Given the description of an element on the screen output the (x, y) to click on. 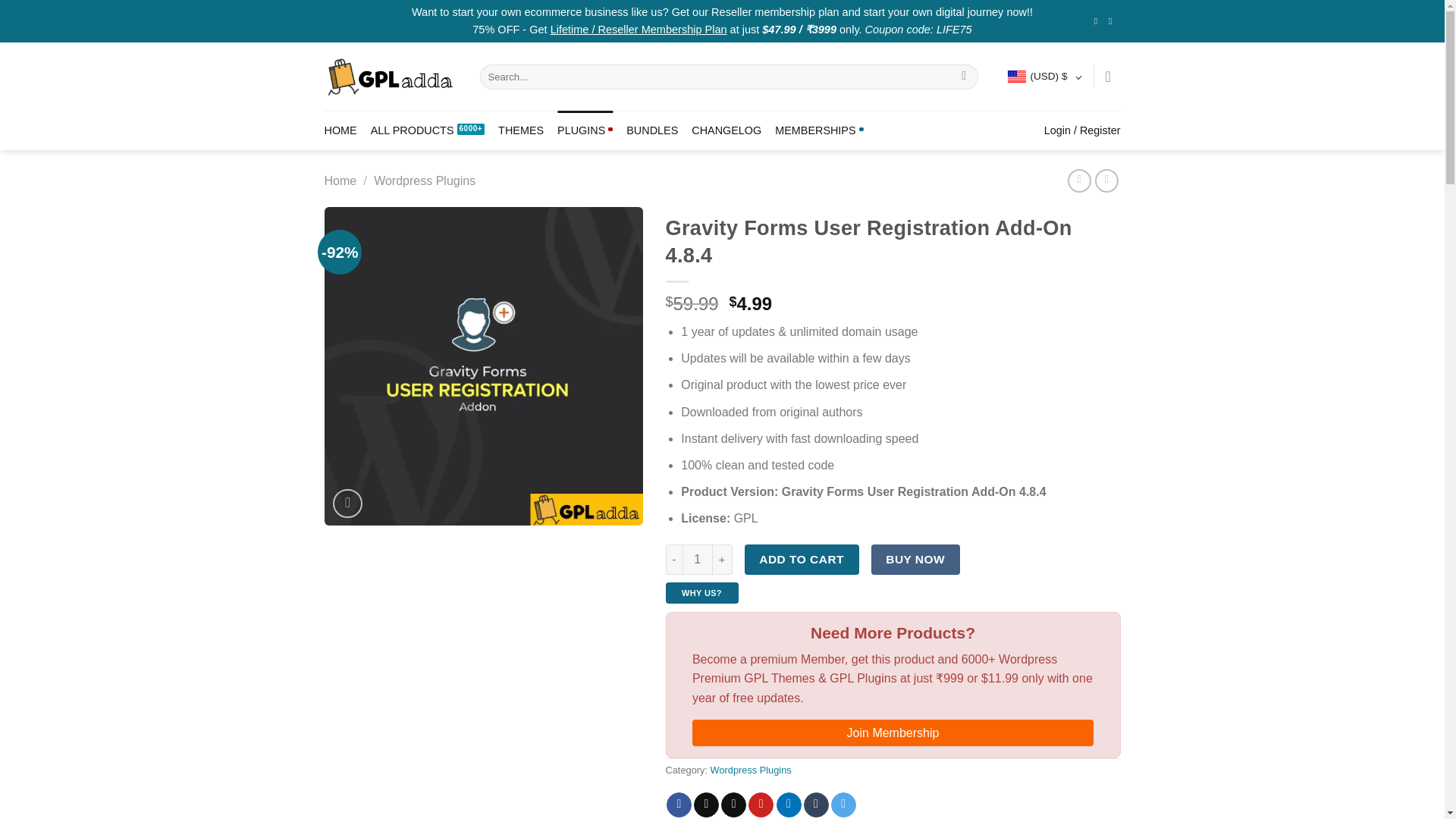
Gravity Forms User Registration Add-On 4.8.4 3 (483, 366)
WHY US? (701, 592)
BUNDLES (652, 129)
Wordpress Plugins (751, 769)
ADD TO CART (801, 559)
PLUGINS (584, 129)
Search (964, 77)
ALL PRODUCTS (427, 129)
Zoom (347, 503)
CHANGELOG (726, 129)
Login (1082, 129)
GPL Adda - Wordpress GPL Themes and GPL Plugins Store (390, 76)
THEMES (520, 129)
MEMBERSHIPS (818, 129)
Join Membership (893, 732)
